Given the description of an element on the screen output the (x, y) to click on. 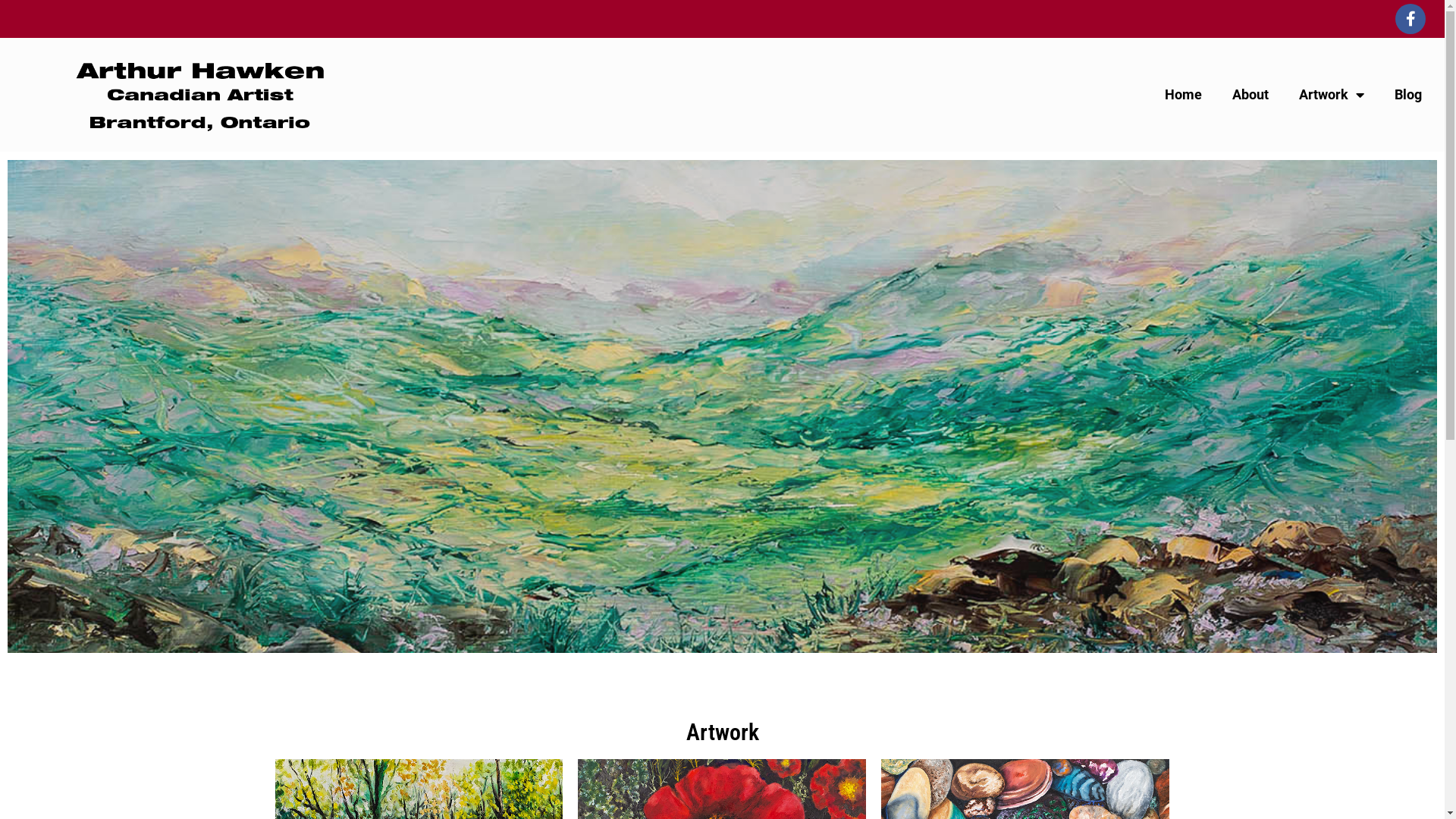
Artwork Element type: text (1331, 94)
Blog Element type: text (1408, 94)
About Element type: text (1250, 94)
Home Element type: text (1183, 94)
